Given the description of an element on the screen output the (x, y) to click on. 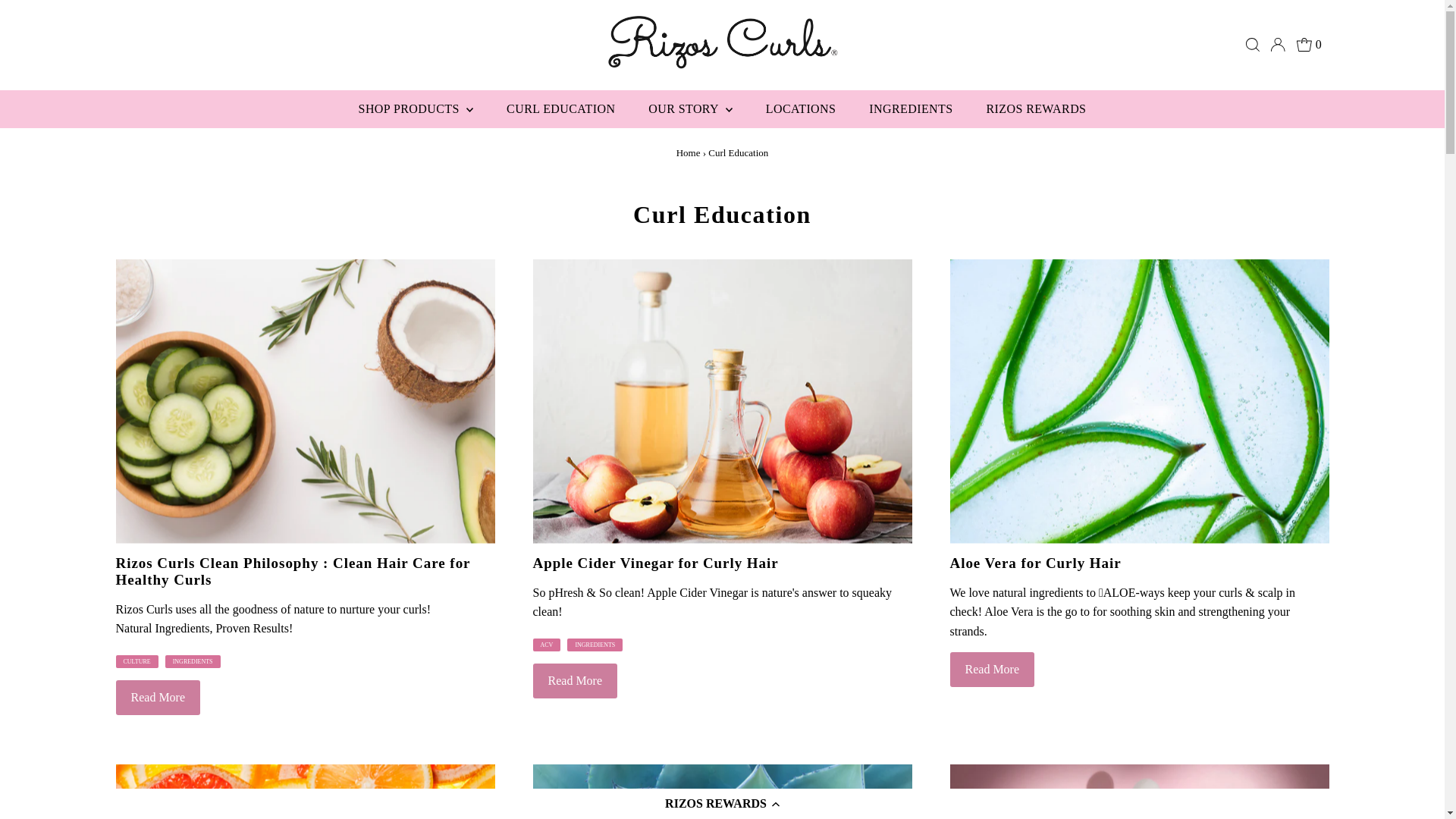
RIZOS REWARDS (1035, 108)
CULTURE (136, 661)
Home (688, 152)
INGREDIENTS (910, 108)
Vitamin C For Curly Hair (305, 791)
Love is in the Hair! (1138, 791)
Blue Agave for Curly Hair (721, 791)
LOCATIONS (801, 108)
Home (688, 152)
Aloe Vera for Curly Hair (1138, 401)
CURL EDUCATION (561, 108)
Apple Cider Vinegar for Curly Hair (721, 401)
